Given the description of an element on the screen output the (x, y) to click on. 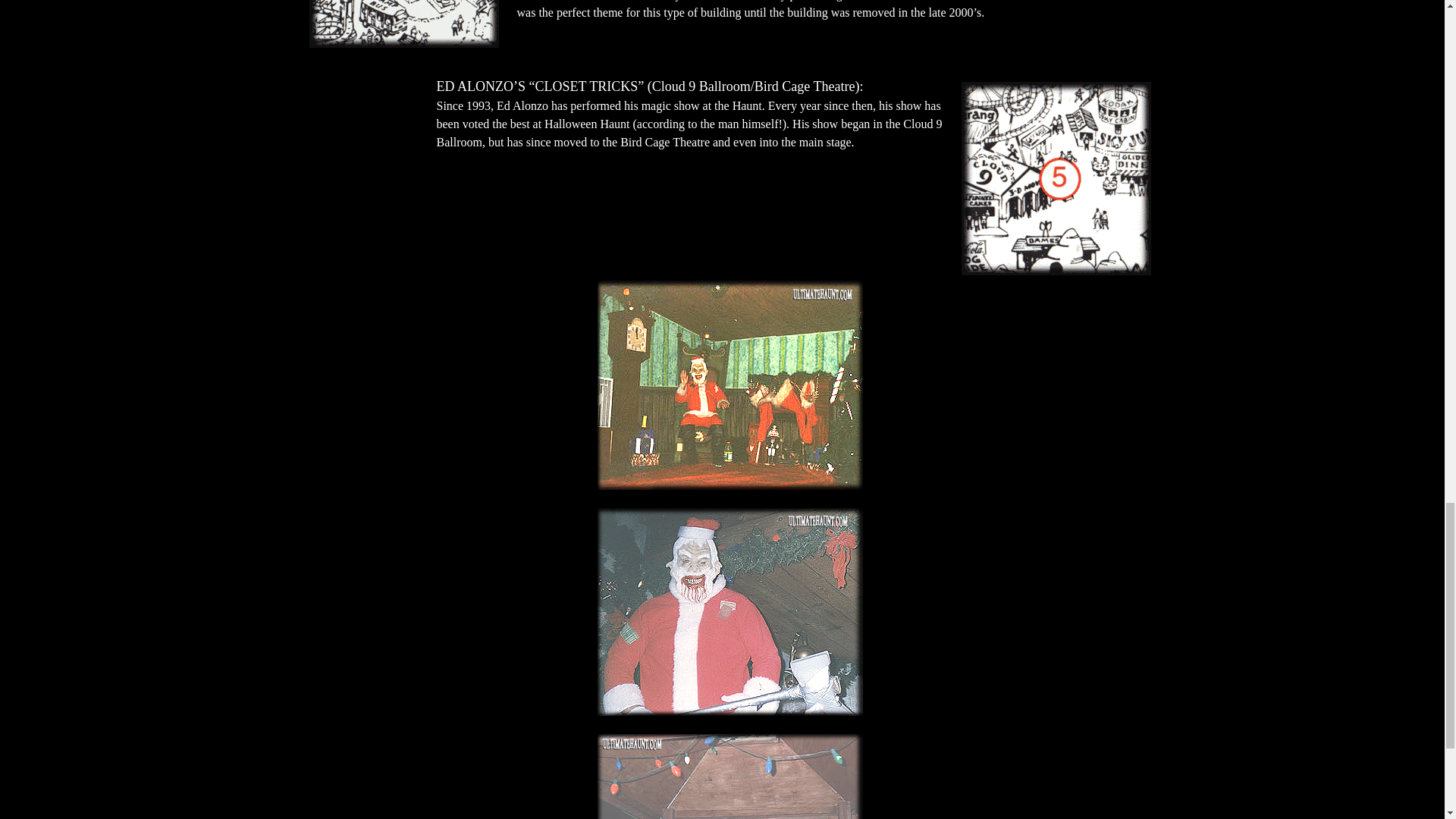
scary santy (729, 611)
Hi Santy (729, 384)
ghoul tide carols (729, 776)
